Given the description of an element on the screen output the (x, y) to click on. 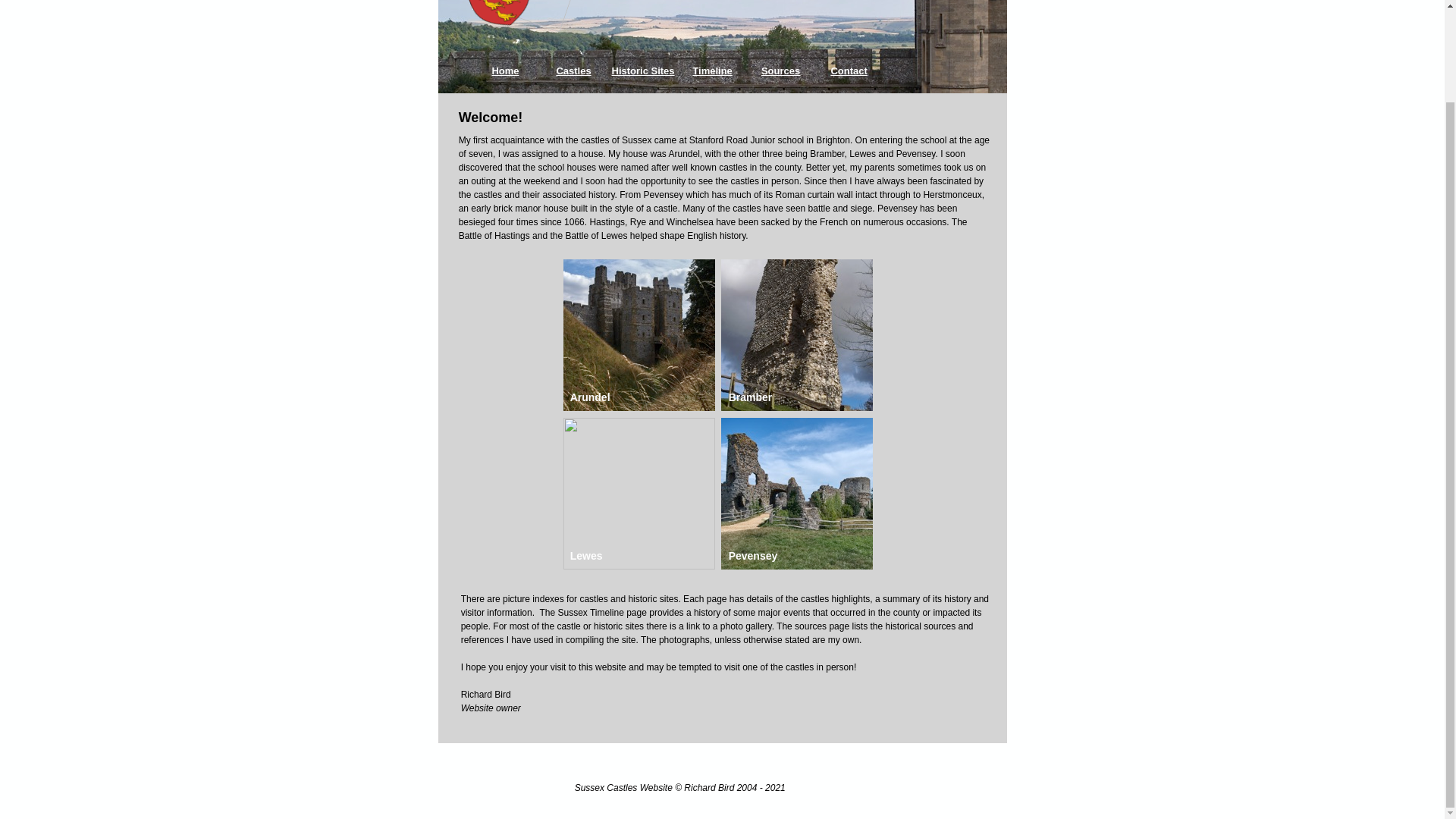
Historic Sites (642, 71)
Sources (780, 71)
Timeline (712, 71)
Contact (848, 71)
Home (504, 71)
Castles (573, 71)
